Given the description of an element on the screen output the (x, y) to click on. 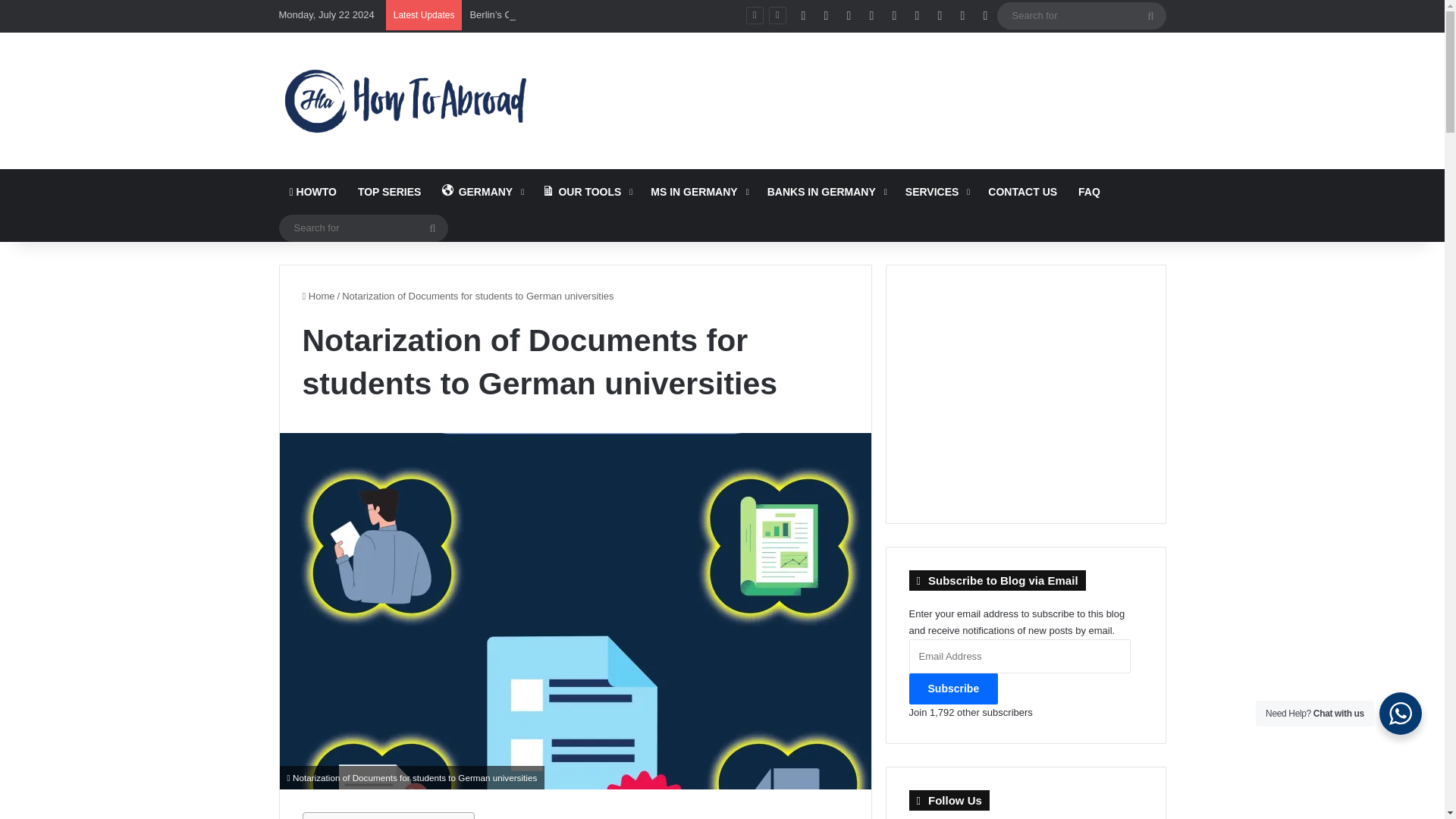
GERMANY (480, 191)
Search for (363, 227)
How to Abroad (405, 100)
TOP SERIES (389, 191)
SERVICES (936, 191)
OUR TOOLS (585, 191)
MS IN GERMANY (697, 191)
HOWTO (313, 191)
Search for (1080, 15)
BANKS IN GERMANY (826, 191)
